Given the description of an element on the screen output the (x, y) to click on. 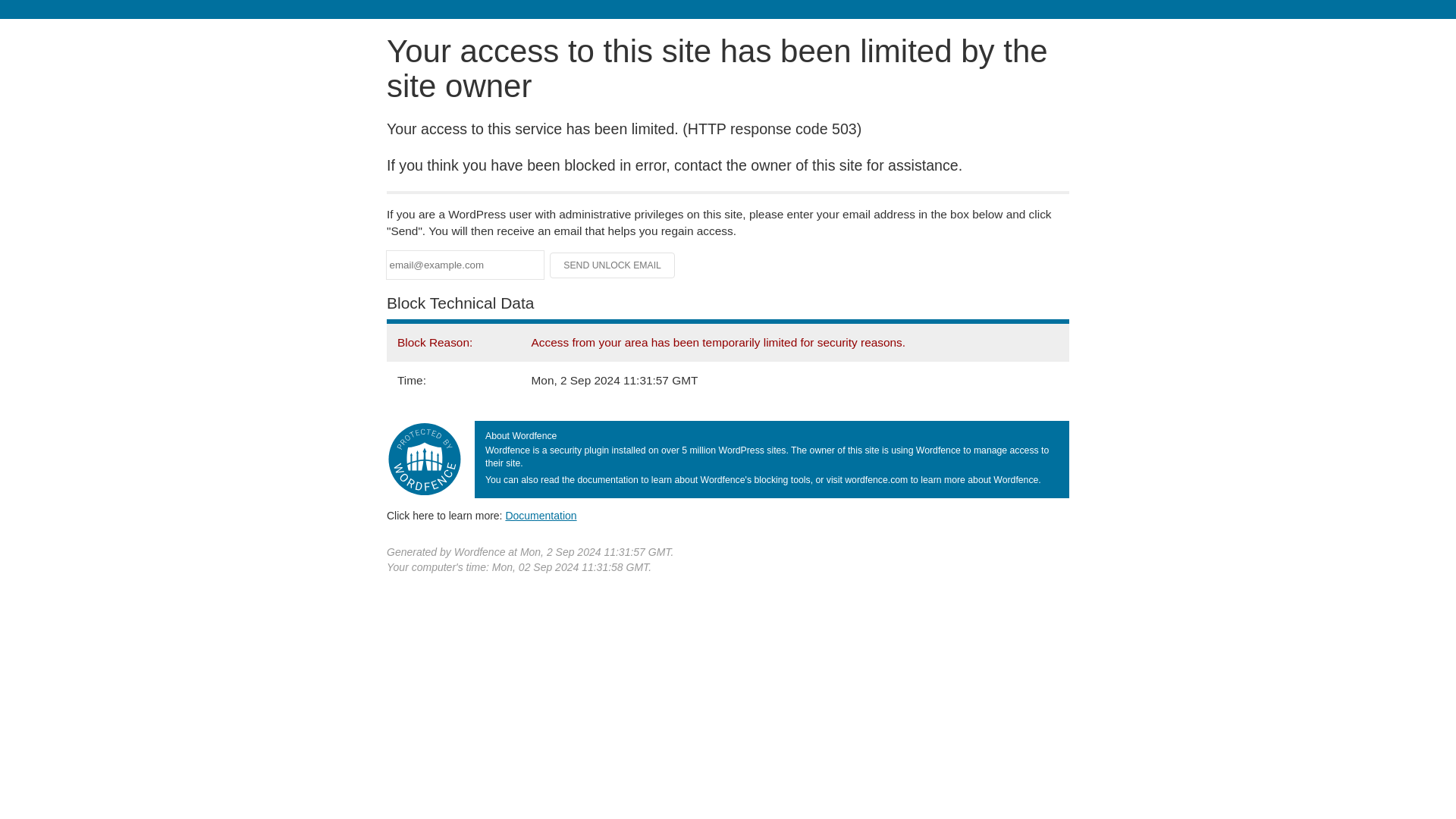
Send Unlock Email (612, 265)
Documentation (540, 515)
Send Unlock Email (612, 265)
